Given the description of an element on the screen output the (x, y) to click on. 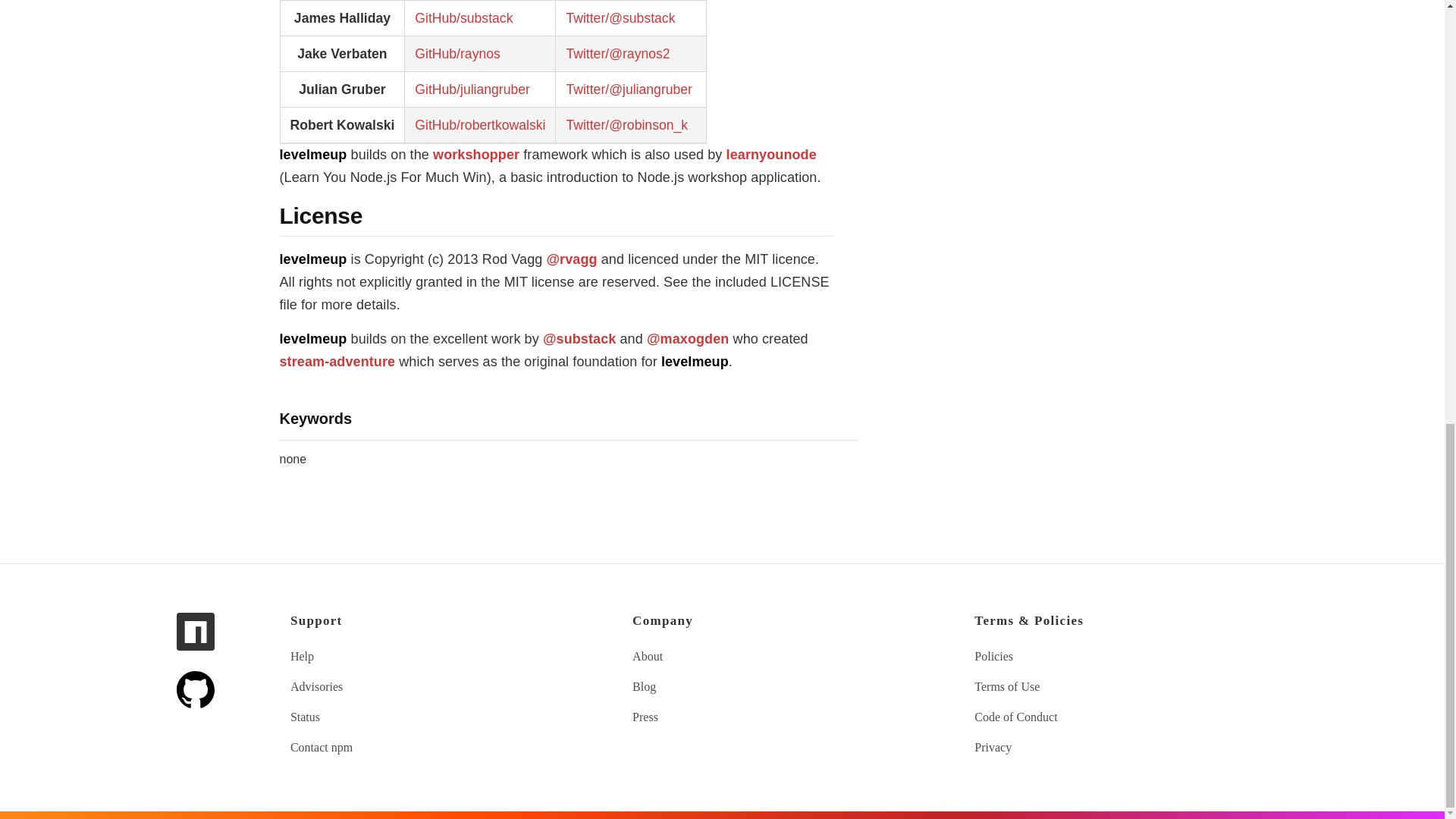
learnyounode (771, 154)
workshopper (475, 154)
stream-adventure (336, 361)
